Given the description of an element on the screen output the (x, y) to click on. 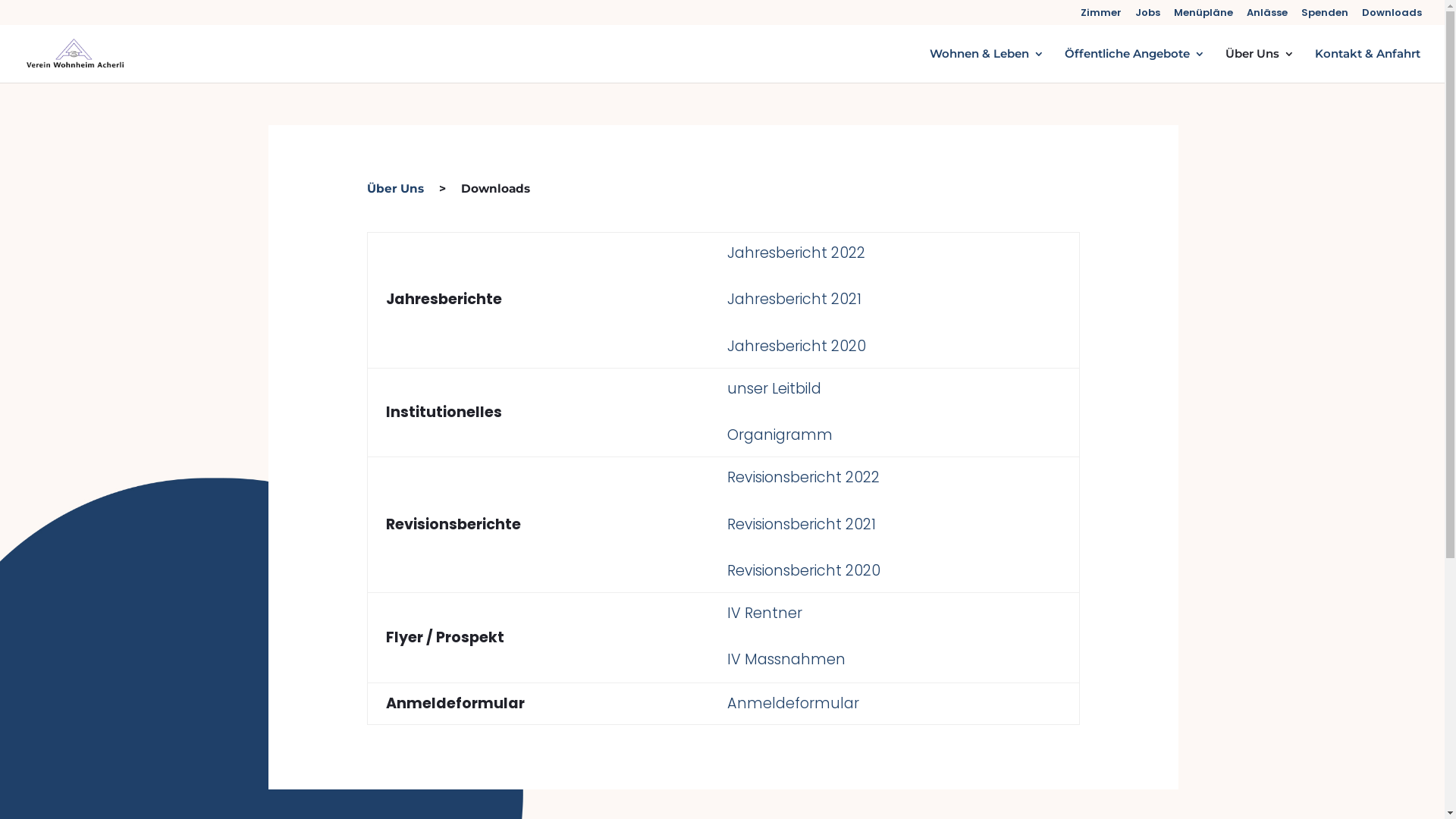
Jobs Element type: text (1147, 16)
Zimmer Element type: text (1100, 16)
unser Leitbild Element type: text (774, 388)
Revisionsbericht 2022 Element type: text (803, 477)
Kontakt & Anfahrt Element type: text (1367, 65)
Revisionsbericht 2020 Element type: text (803, 570)
Organigramm Element type: text (779, 434)
IV Rentner Element type: text (764, 612)
Spenden Element type: text (1324, 16)
Anmeldeformular  Element type: text (794, 703)
Jahresbericht 2020  Element type: text (798, 345)
IV Massnahmen Element type: text (786, 659)
Jahresbericht 2022 Element type: text (796, 252)
Wohnen & Leben Element type: text (986, 65)
Downloads Element type: text (1391, 16)
Revisionsbericht 2021 Element type: text (801, 524)
Jahresbericht 2021 Element type: text (794, 298)
